Given the description of an element on the screen output the (x, y) to click on. 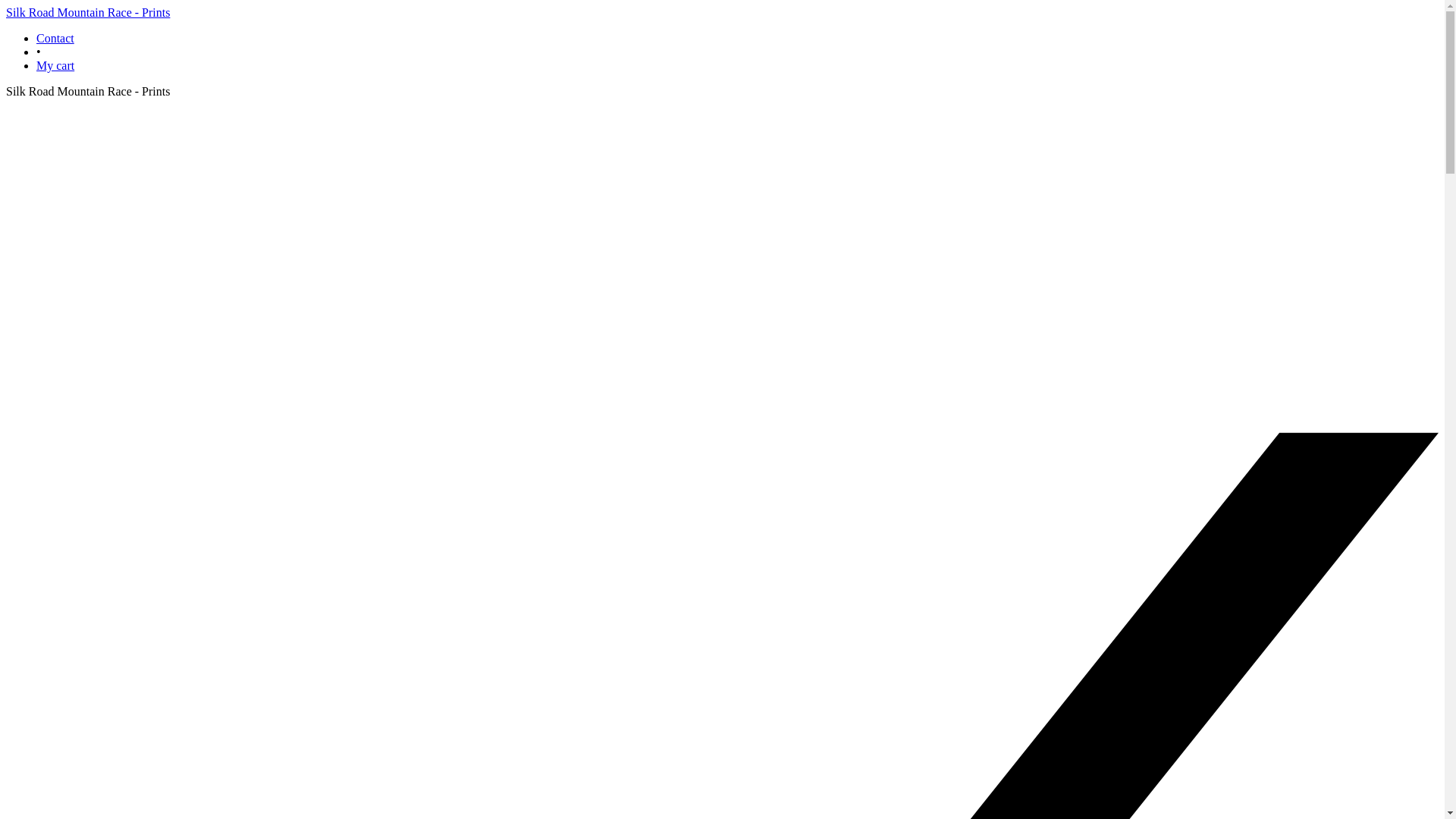
Silk Road Mountain Race - Prints Element type: text (87, 12)
Contact Element type: text (55, 37)
My cart Element type: text (55, 65)
